Given the description of an element on the screen output the (x, y) to click on. 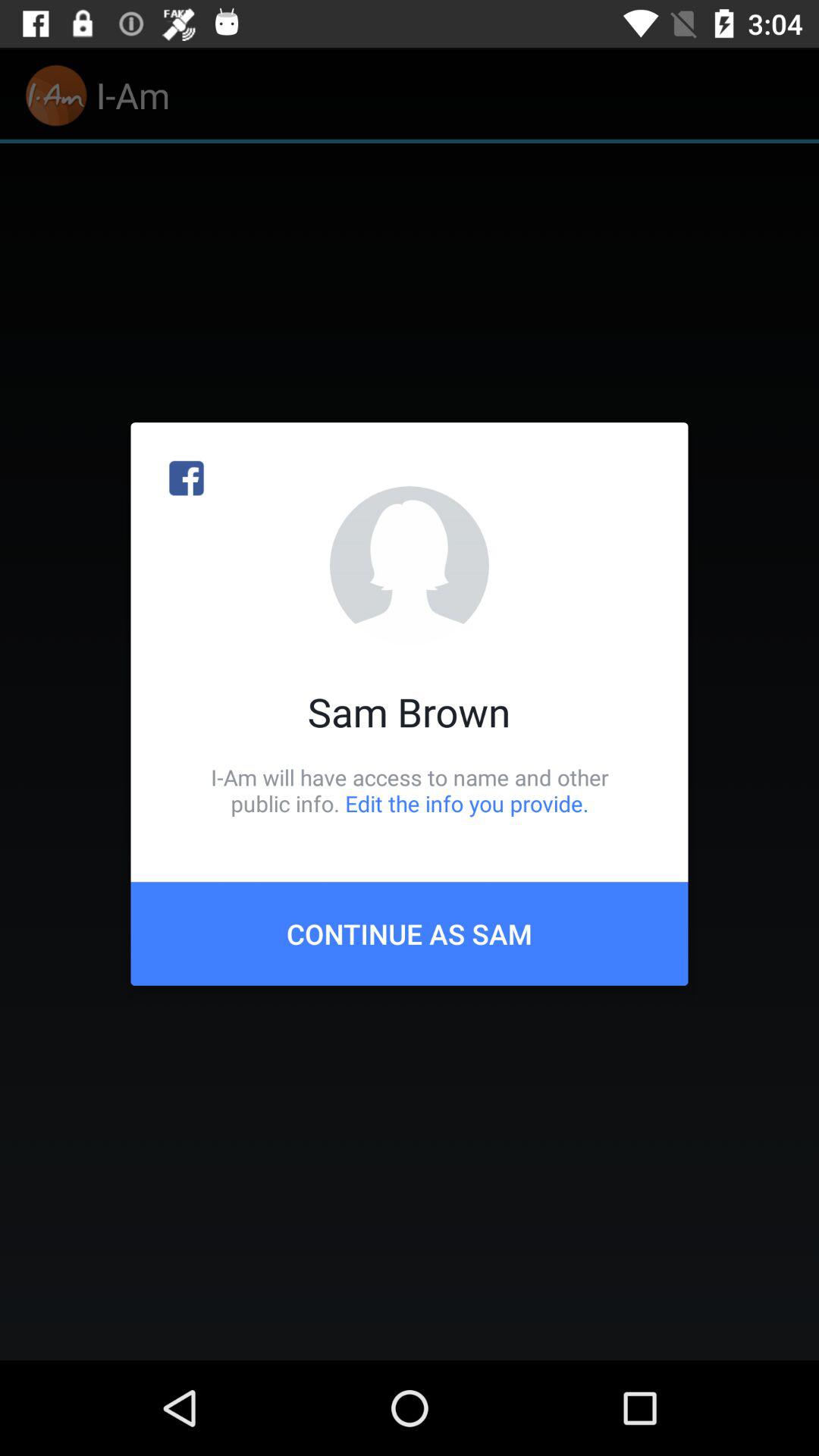
choose the item below the i am will item (409, 933)
